Given the description of an element on the screen output the (x, y) to click on. 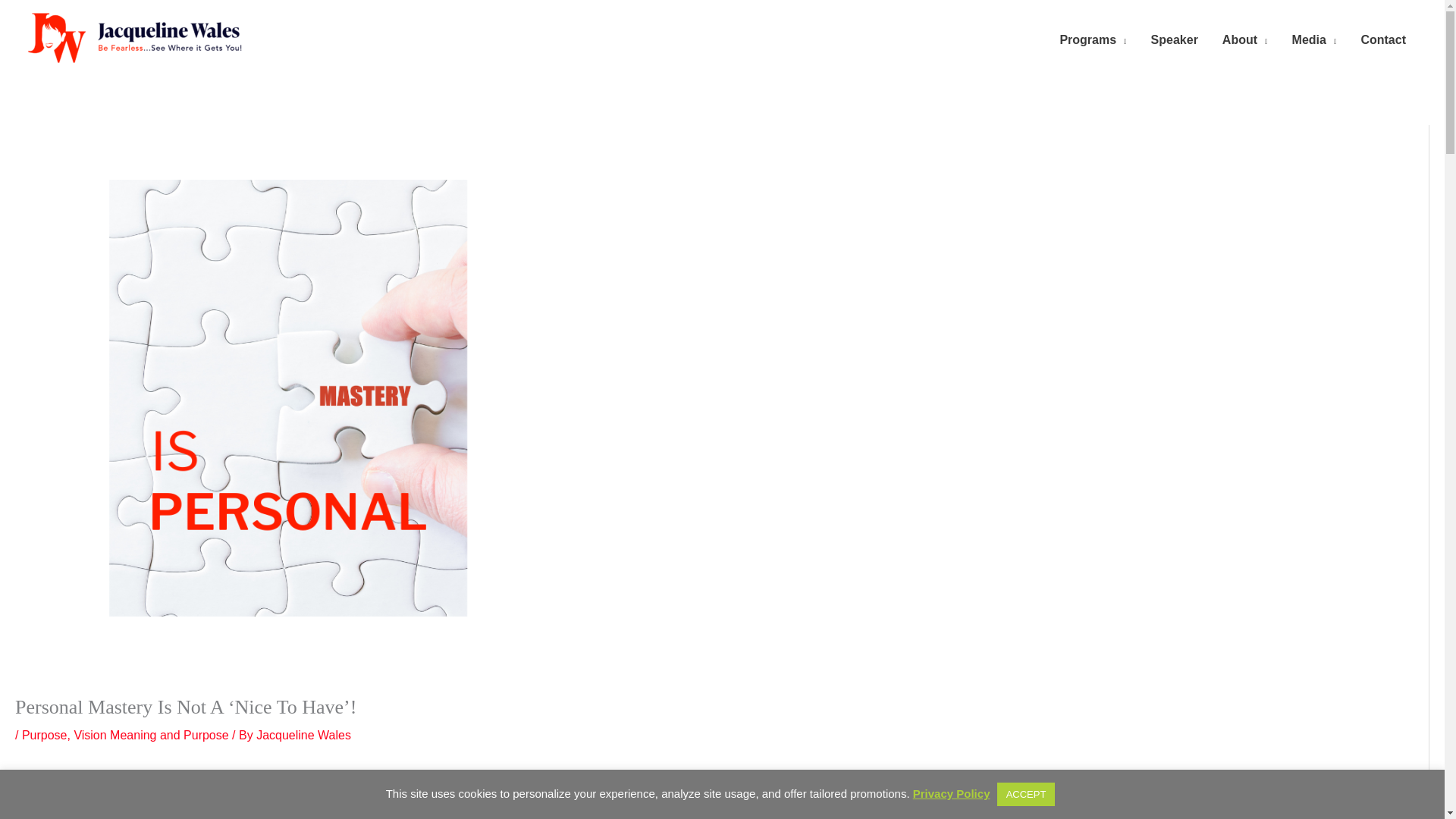
View all posts by Jacqueline Wales (303, 735)
Media (1314, 39)
About (1244, 39)
Speaker (1173, 39)
Contact (1383, 39)
Programs (1092, 39)
